Given the description of an element on the screen output the (x, y) to click on. 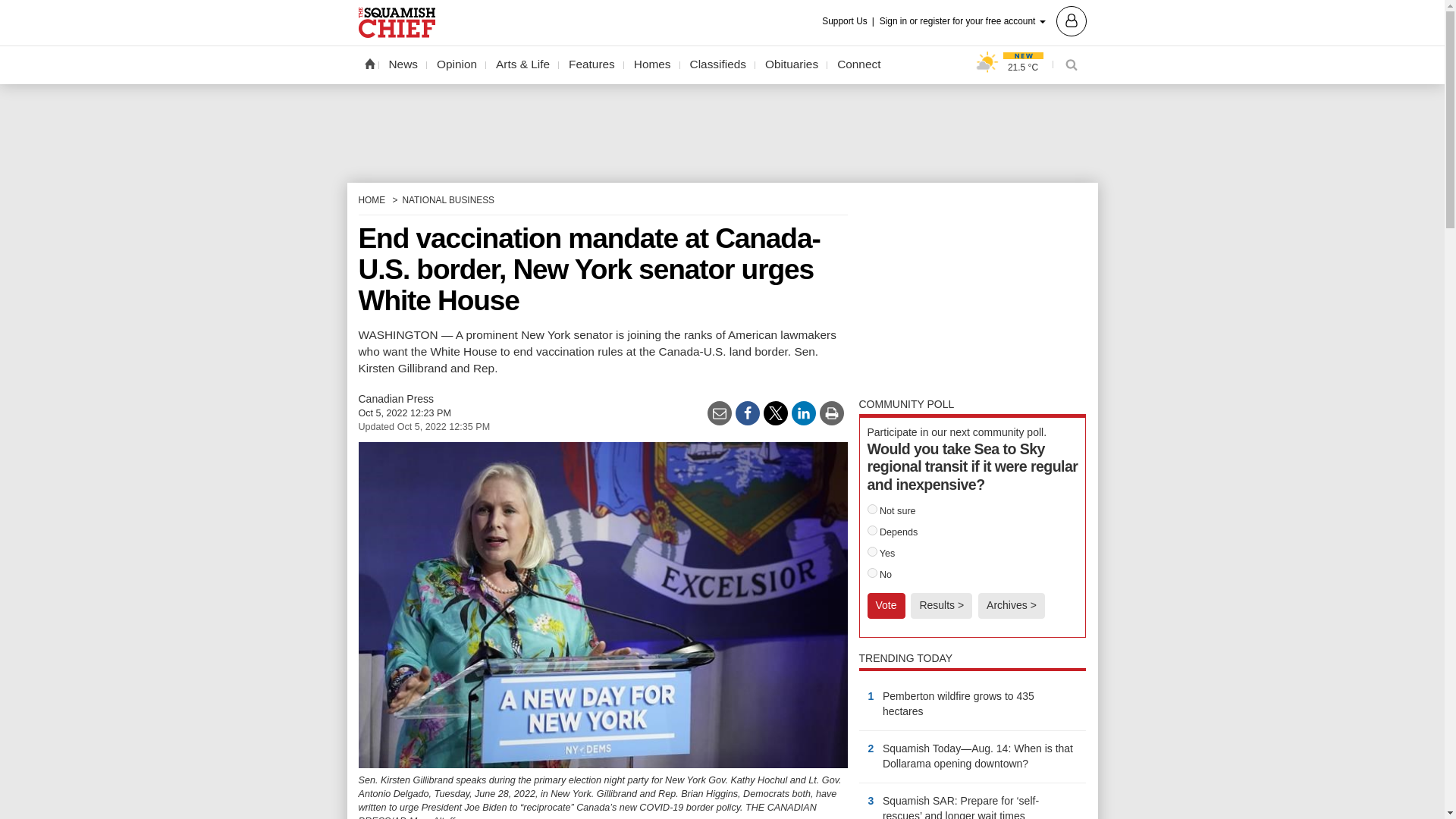
News (403, 64)
123143 (872, 530)
Sign in or register for your free account (982, 20)
123142 (872, 573)
123144 (872, 509)
123141 (872, 551)
Support Us (849, 21)
Home (368, 63)
Opinion (456, 64)
